Given the description of an element on the screen output the (x, y) to click on. 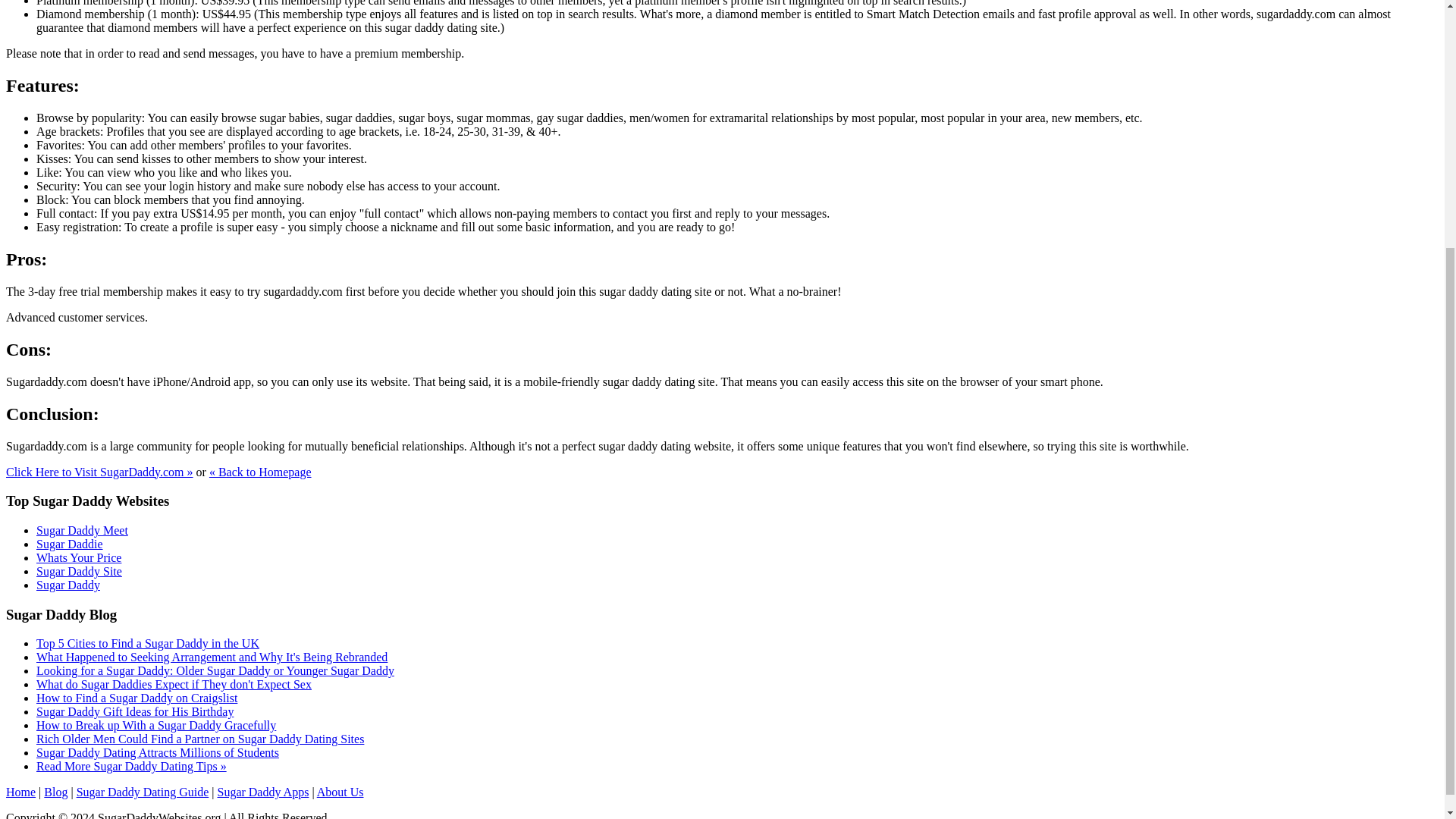
Sugar Daddy Websites (19, 791)
Sugar Daddy Meet (82, 530)
How to Break up With a Sugar Daddy Gracefully (156, 725)
How to Find a Sugar Daddy on Craigslist (136, 697)
Home (19, 791)
Sugar Daddy Gift Ideas for His Birthday (134, 711)
Sugar Daddy Dating Guide (143, 791)
Sugar Daddy (68, 584)
